Given the description of an element on the screen output the (x, y) to click on. 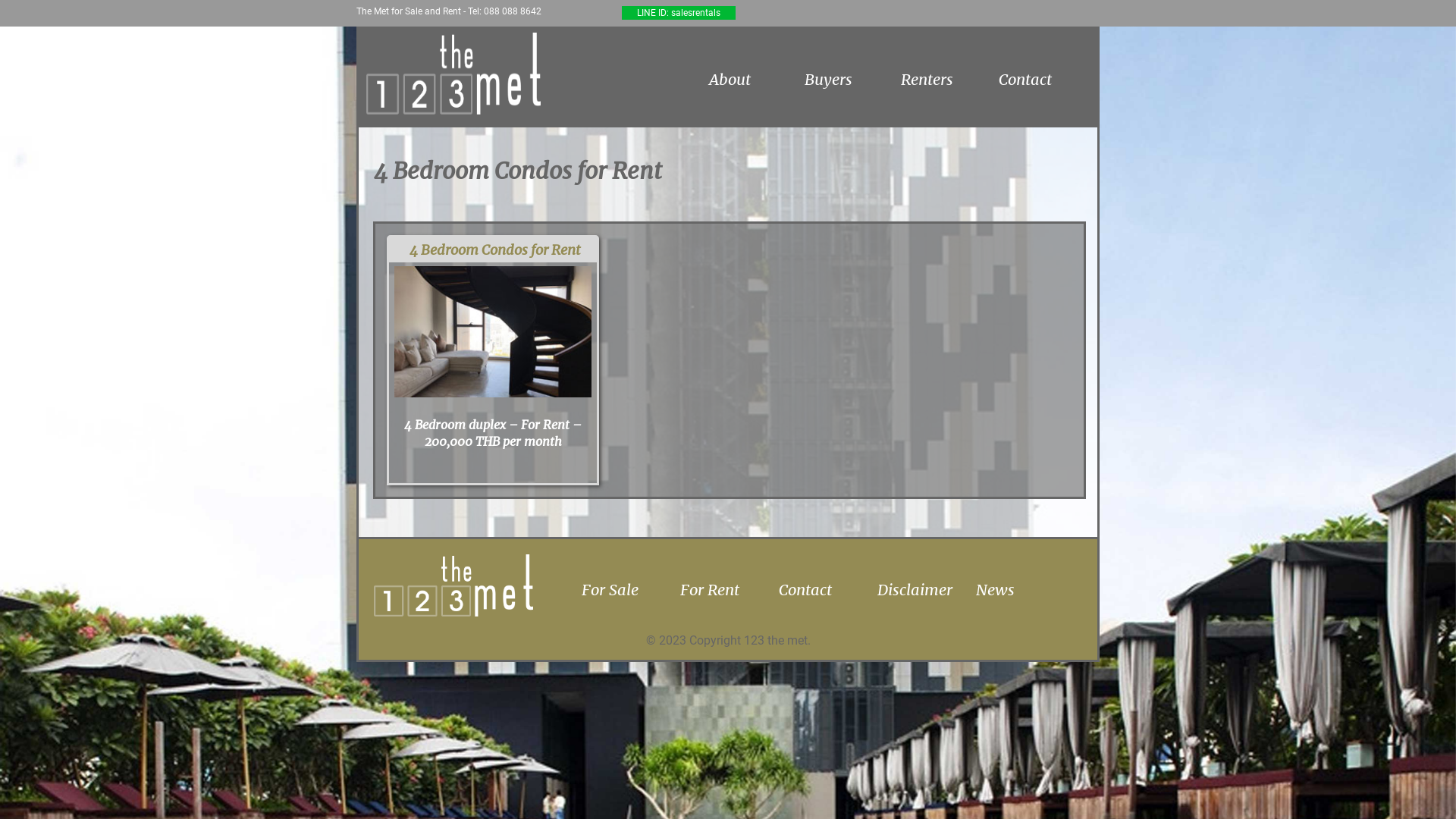
Renters Element type: text (926, 78)
LINE ID: salesrentals Element type: text (678, 12)
Contact Element type: text (823, 589)
Buyers Element type: text (827, 78)
About Element type: text (729, 78)
Contact Element type: text (1024, 78)
Disclaimer Element type: text (922, 589)
News Element type: text (1020, 589)
For Rent Element type: text (725, 589)
For Sale Element type: text (626, 589)
